Given the description of an element on the screen output the (x, y) to click on. 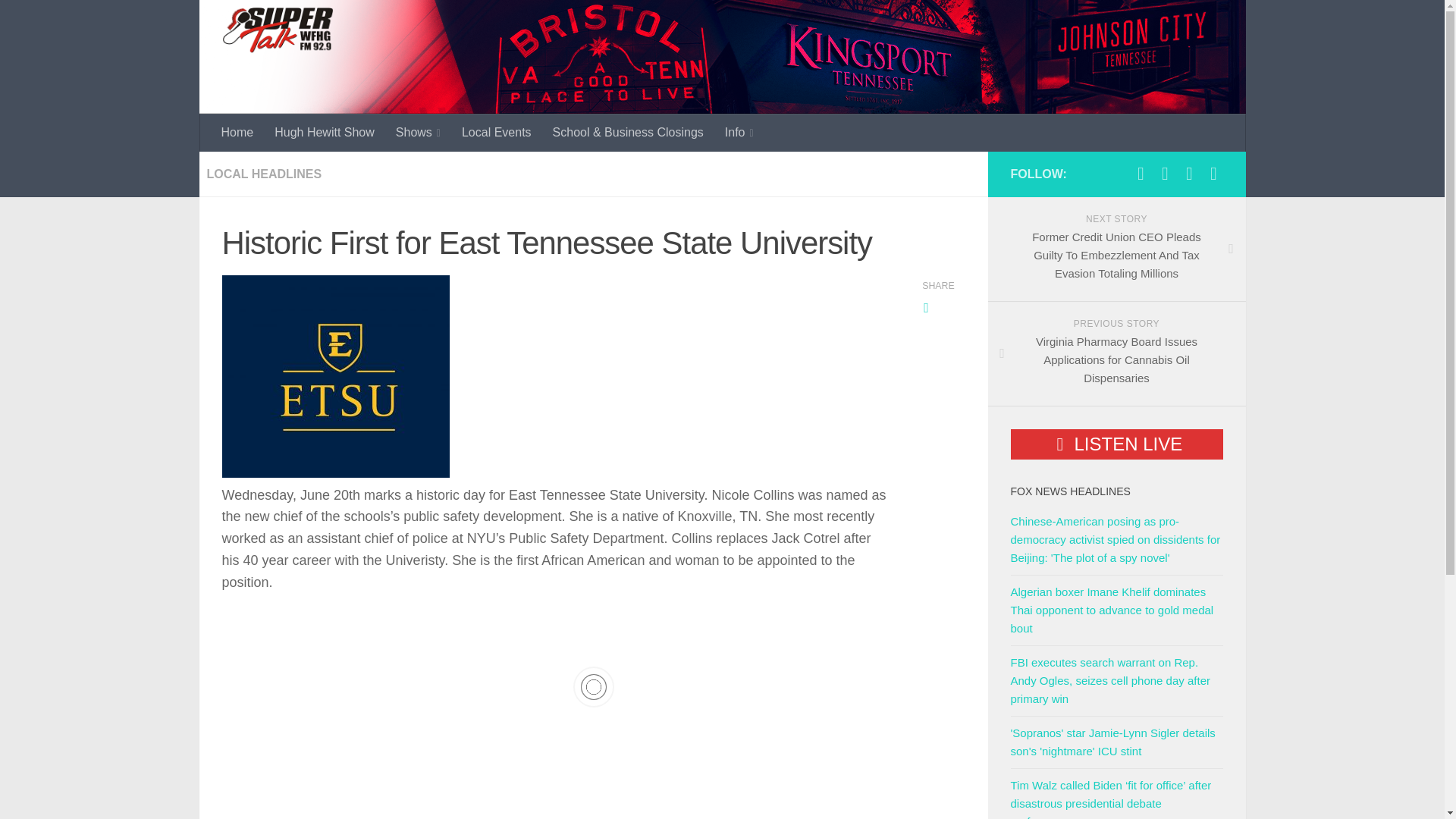
Info (739, 132)
Contact Us (1188, 173)
Local Events (496, 132)
Home (237, 132)
Follow us on Twitter (1164, 173)
Hugh Hewitt Show (324, 132)
Rss Feed (1213, 173)
Shows (418, 132)
Follow us on Facebook (1140, 173)
